Given the description of an element on the screen output the (x, y) to click on. 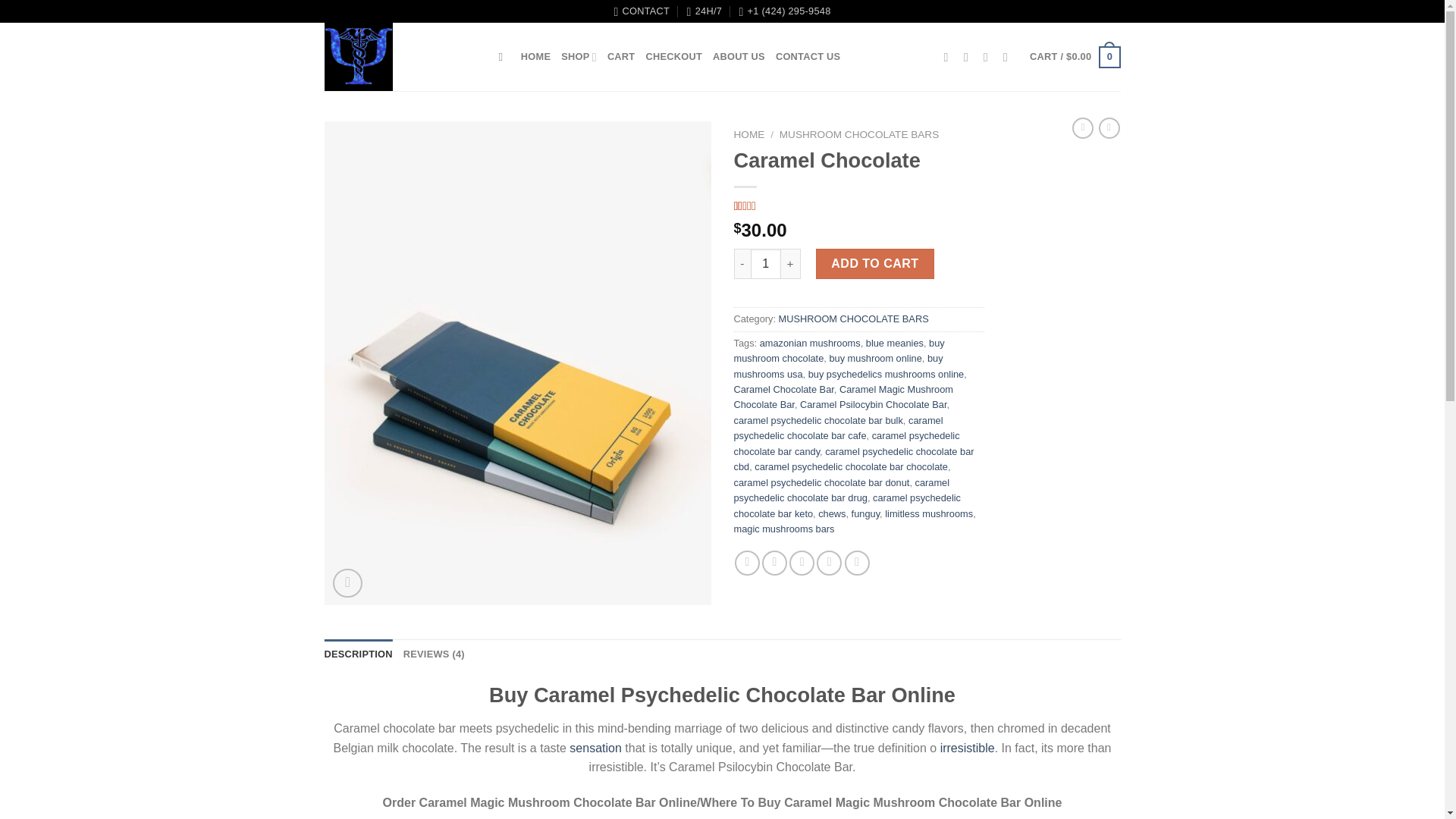
Qty (765, 263)
ABOUT US (739, 56)
HOME (535, 56)
HOME (749, 134)
CONTACT US (808, 56)
CART (620, 56)
SHOP (578, 56)
1 (765, 263)
CHECKOUT (673, 56)
Cart (1074, 57)
Psyche Medicald - Psyche Medicald (400, 56)
CONTACT (640, 11)
MUSHROOM CHOCOLATE BARS (858, 134)
